Given the description of an element on the screen output the (x, y) to click on. 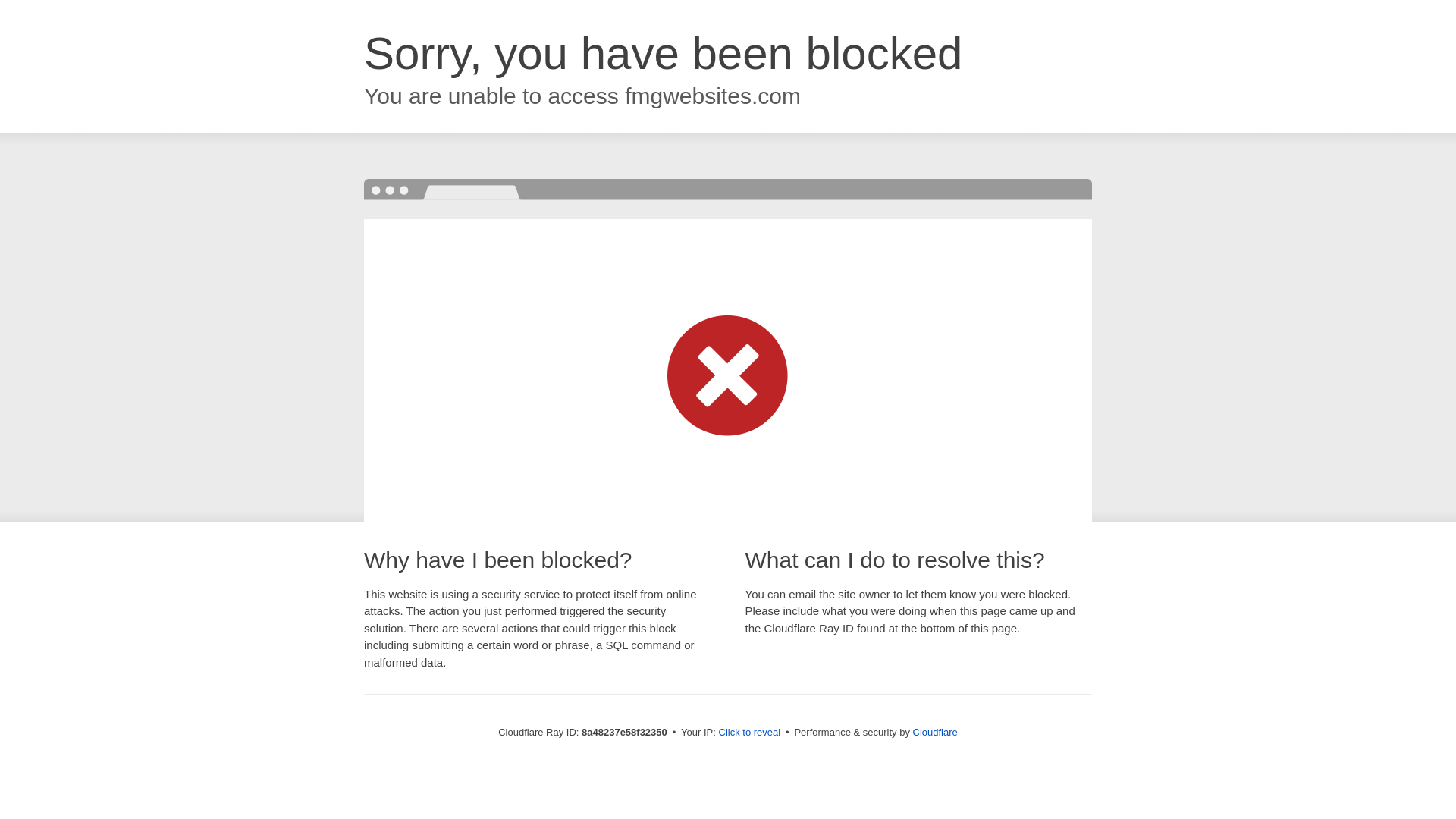
Cloudflare (935, 731)
Click to reveal (749, 732)
